Given the description of an element on the screen output the (x, y) to click on. 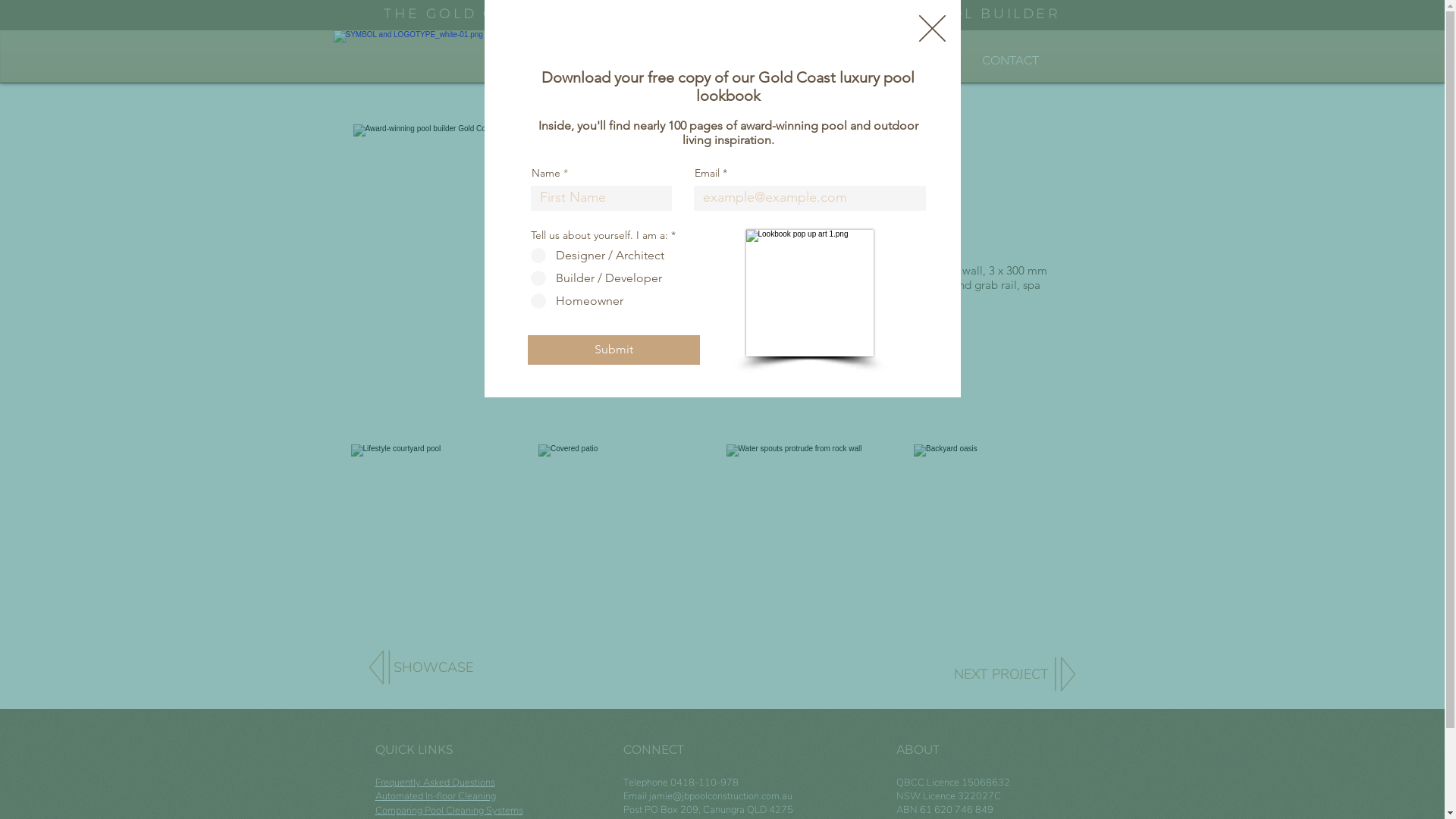
SHOWCASE Element type: text (589, 60)
Frequently Asked Questions Element type: text (434, 781)
jamie@jbpoolconstruction.com.au Element type: text (720, 796)
Embedded Content Element type: hover (1007, 25)
PRESS Element type: text (697, 60)
Automated In-floor Cleaning Element type: text (434, 795)
Comparing Pool Cleaning Systems Element type: text (448, 809)
CONTACT Element type: text (1009, 60)
Back to site Element type: hover (932, 28)
Submit Element type: text (613, 349)
ABOUT Element type: text (902, 60)
Embedded Content Element type: hover (795, 31)
PROCESS Element type: text (799, 60)
